Given the description of an element on the screen output the (x, y) to click on. 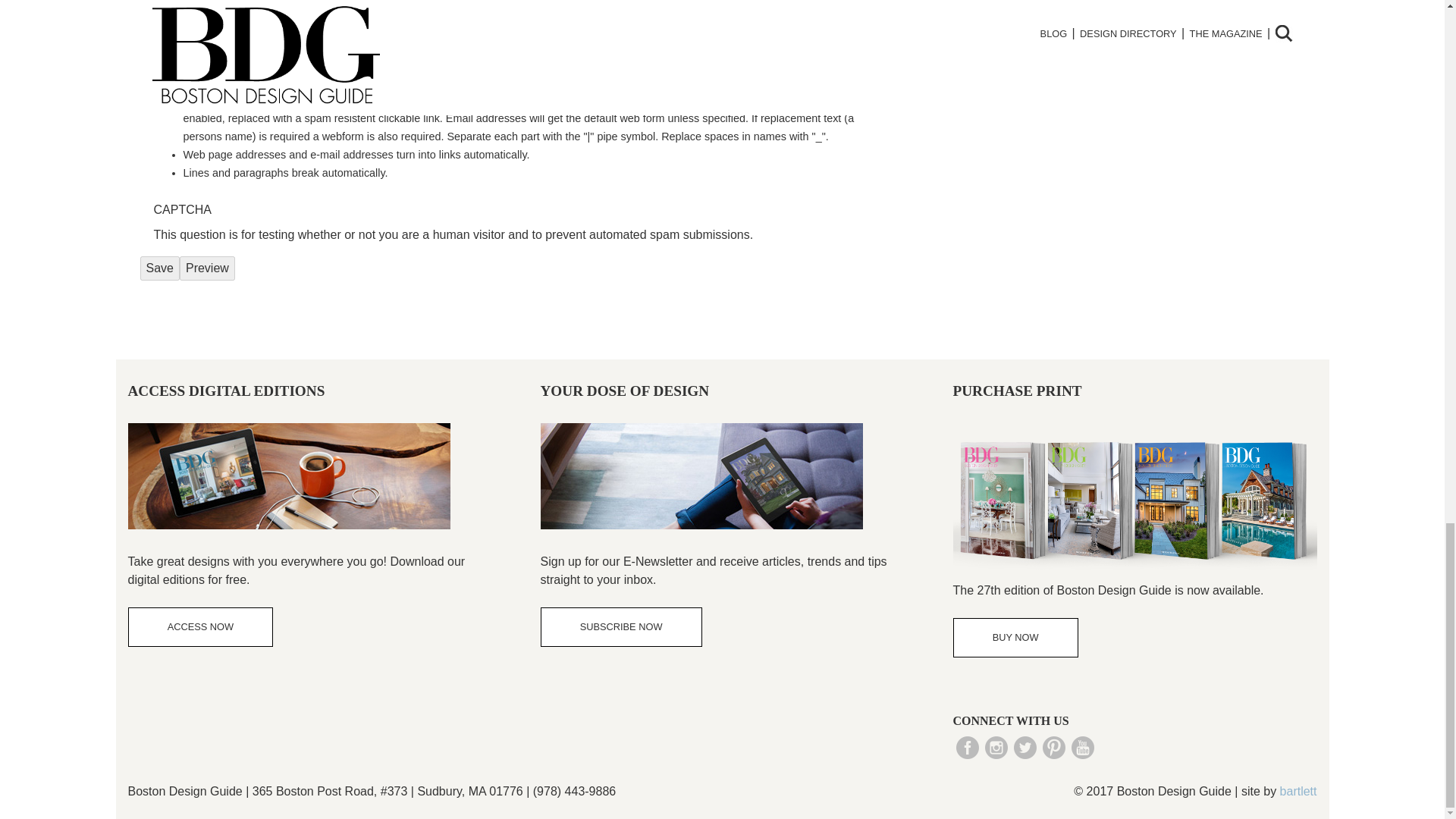
Save (159, 268)
Preview (206, 268)
Save (159, 268)
More information about text formats (770, 81)
Preview (206, 268)
